Given the description of an element on the screen output the (x, y) to click on. 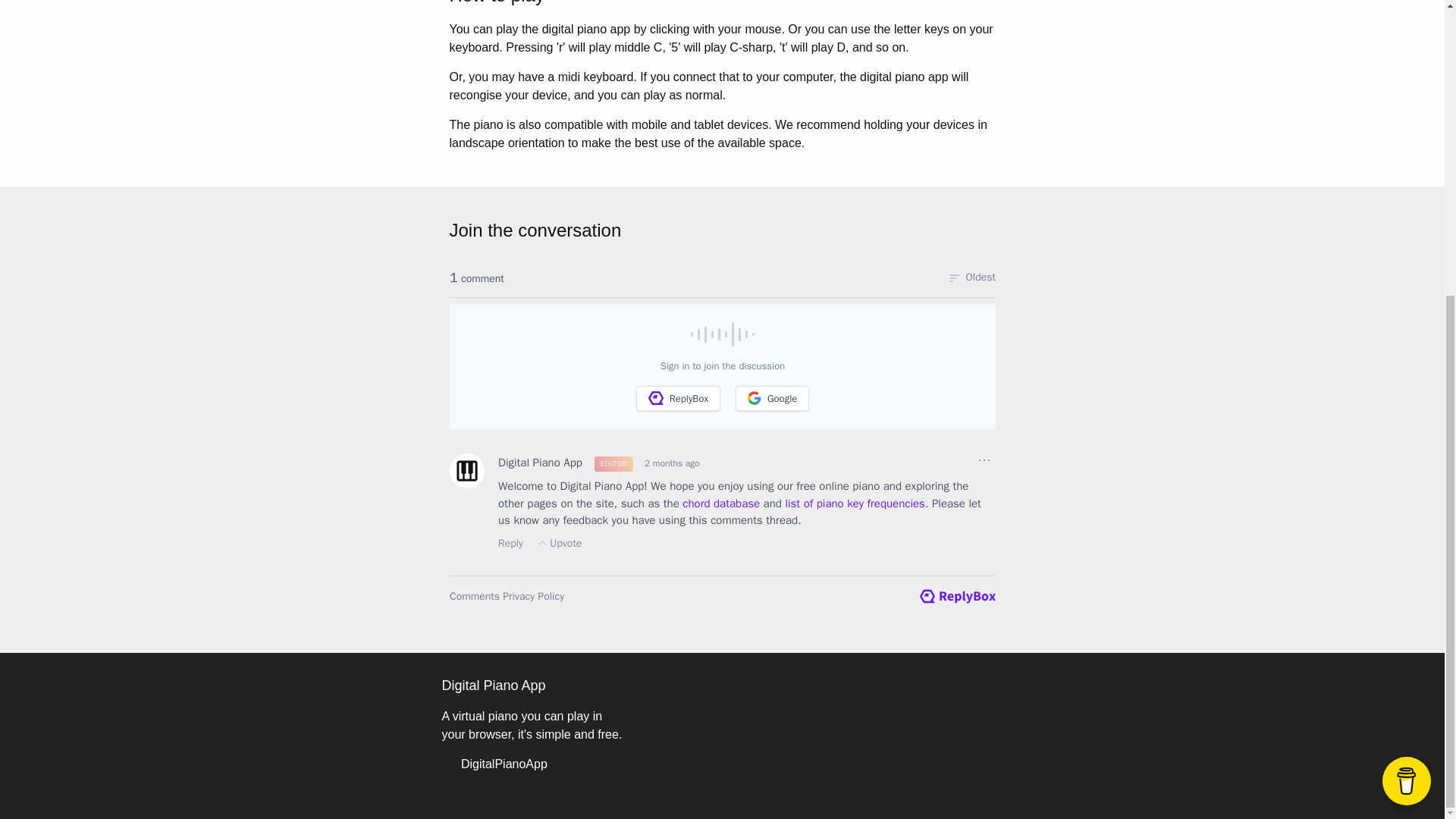
DigitalPianoApp (494, 763)
